Given the description of an element on the screen output the (x, y) to click on. 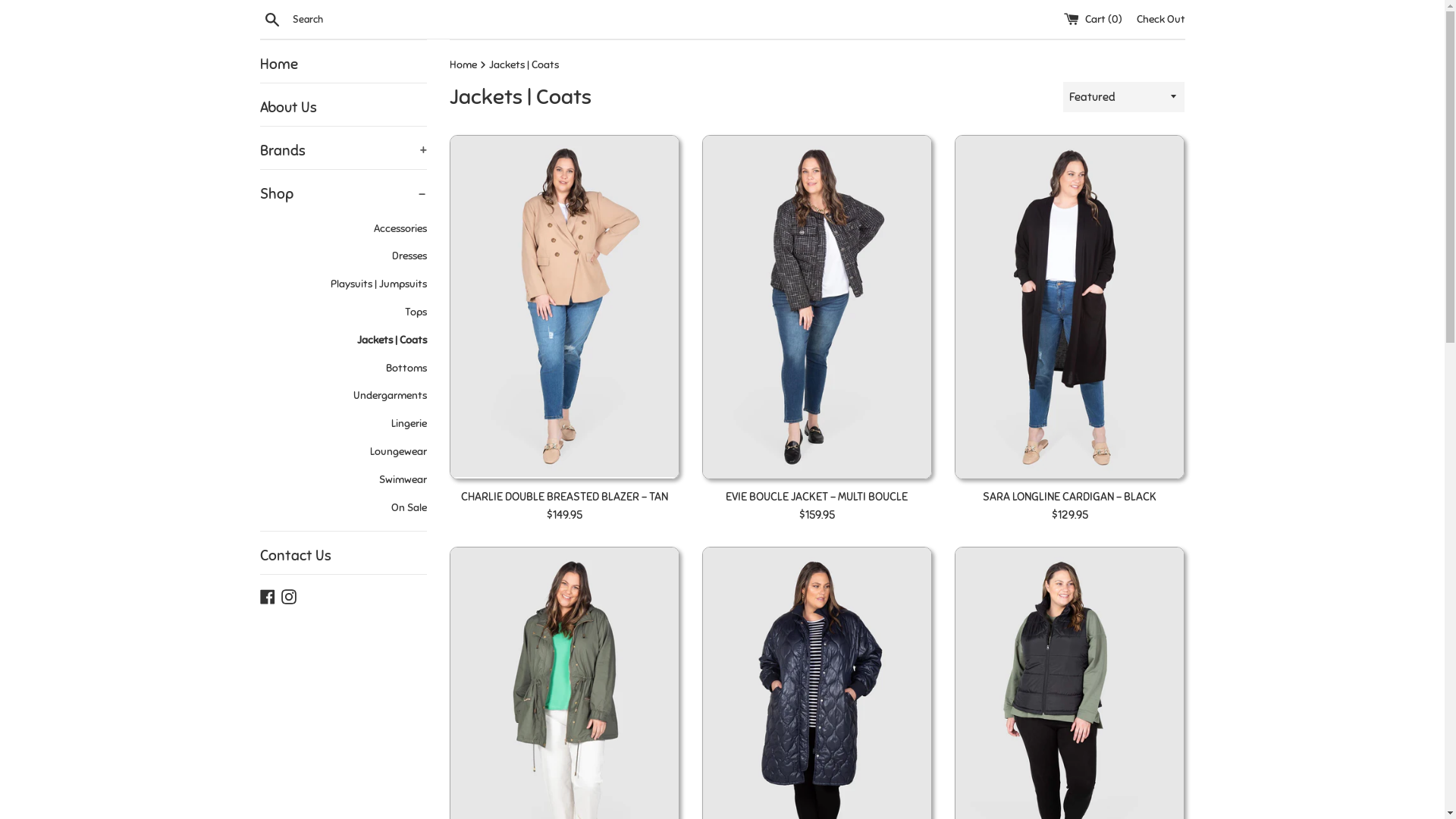
Loungewear Element type: text (342, 452)
Sara Longline Cardigan - Black Element type: hover (1069, 307)
Instagram Element type: text (287, 595)
Lingerie Element type: text (342, 424)
Swimwear Element type: text (342, 480)
EVIE BOUCLE JACKET - MULTI BOUCLE Element type: text (816, 496)
Charlie Double Breasted Blazer - Tan Element type: hover (563, 307)
Contact Us Element type: text (342, 555)
Home Element type: text (342, 64)
Facebook Element type: text (266, 595)
Jackets | Coats Element type: text (342, 340)
LinkedIn Element type: text (308, 595)
Playsuits | Jumpsuits Element type: text (342, 284)
Bottoms Element type: text (342, 368)
Brands
+ Element type: text (342, 150)
SARA LONGLINE CARDIGAN - BLACK Element type: text (1069, 496)
Search Element type: text (271, 18)
Evie Boucle Jacket - Multi Boucle Element type: hover (816, 307)
Cart (0) Element type: text (1093, 18)
Check Out Element type: text (1159, 18)
Shop
- Element type: text (342, 193)
About Us Element type: text (342, 107)
CHARLIE DOUBLE BREASTED BLAZER - TAN Element type: text (564, 496)
Home Element type: text (463, 64)
Tops Element type: text (342, 312)
Dresses Element type: text (342, 256)
Undergarments Element type: text (342, 396)
Accessories Element type: text (342, 229)
On Sale Element type: text (342, 508)
